Given the description of an element on the screen output the (x, y) to click on. 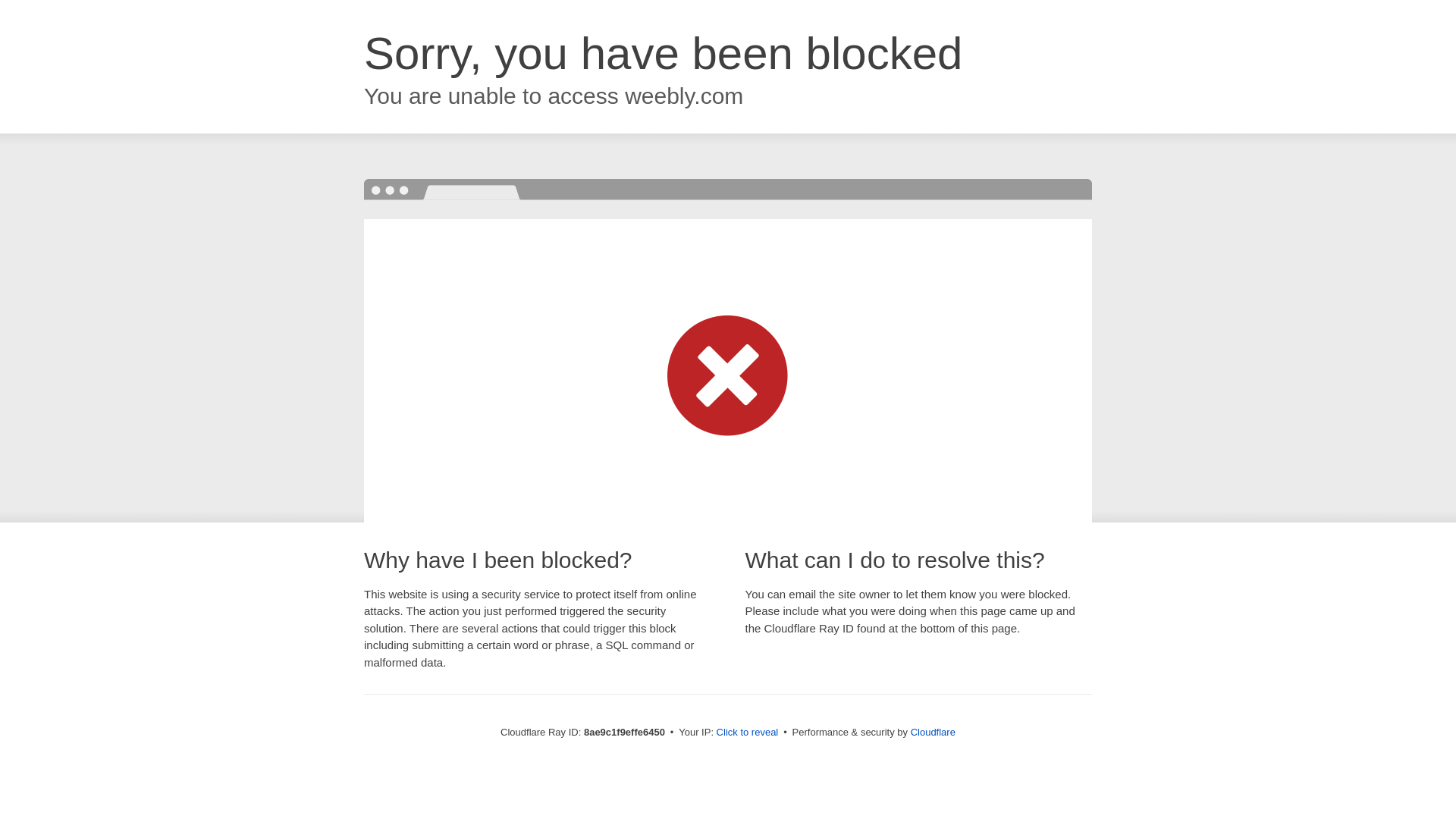
Click to reveal (747, 732)
Cloudflare (933, 731)
